Given the description of an element on the screen output the (x, y) to click on. 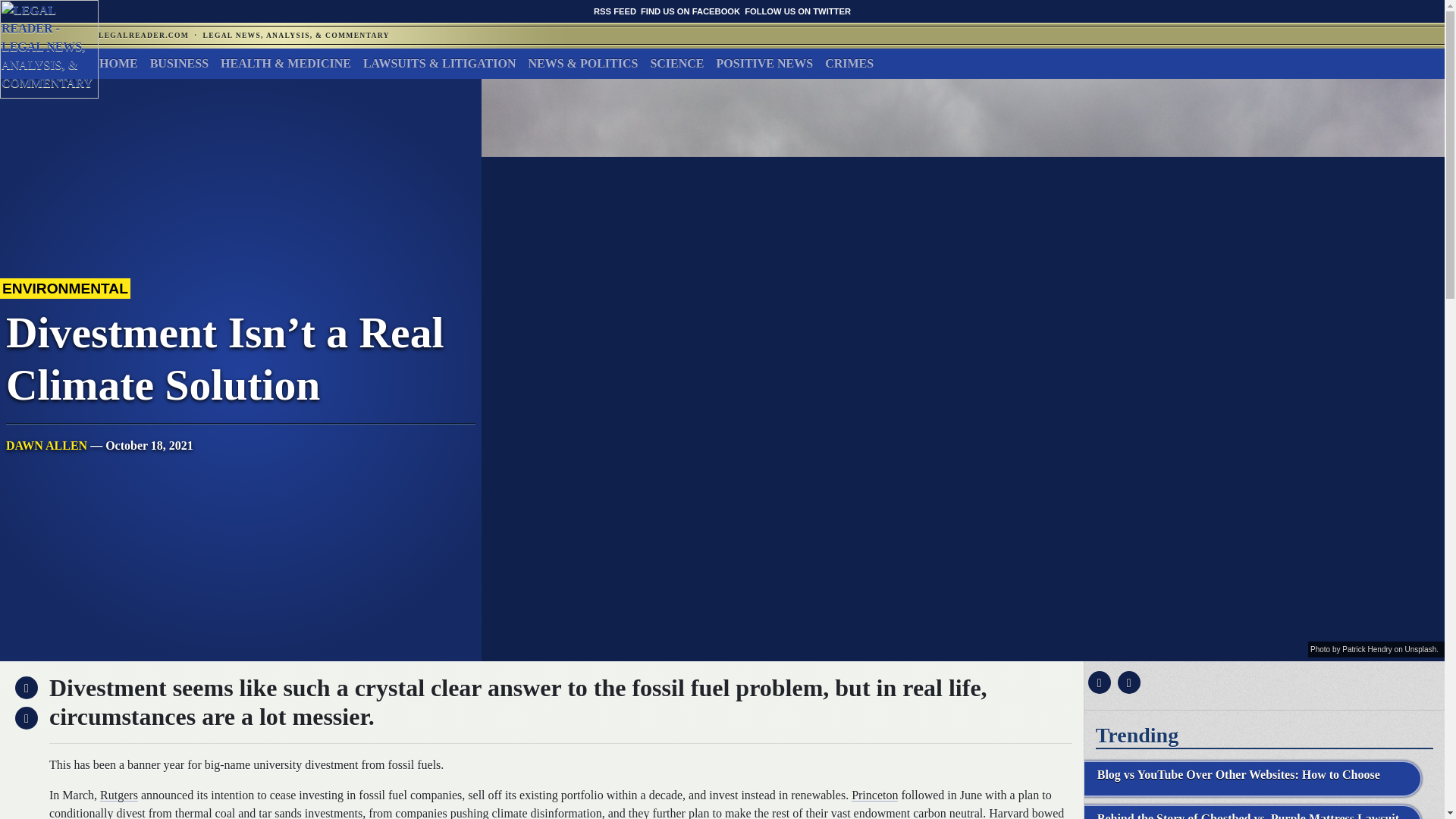
Posts by Dawn Allen (46, 445)
BUSINESS (179, 63)
Follow Legal Reader on Twitter (797, 10)
Find Legal Reader on Facebook (689, 10)
Rutgers (119, 794)
DAWN ALLEN (46, 445)
Crimes (848, 63)
CRIMES (848, 63)
Princeton (874, 794)
Share on facebook (1097, 682)
